Given the description of an element on the screen output the (x, y) to click on. 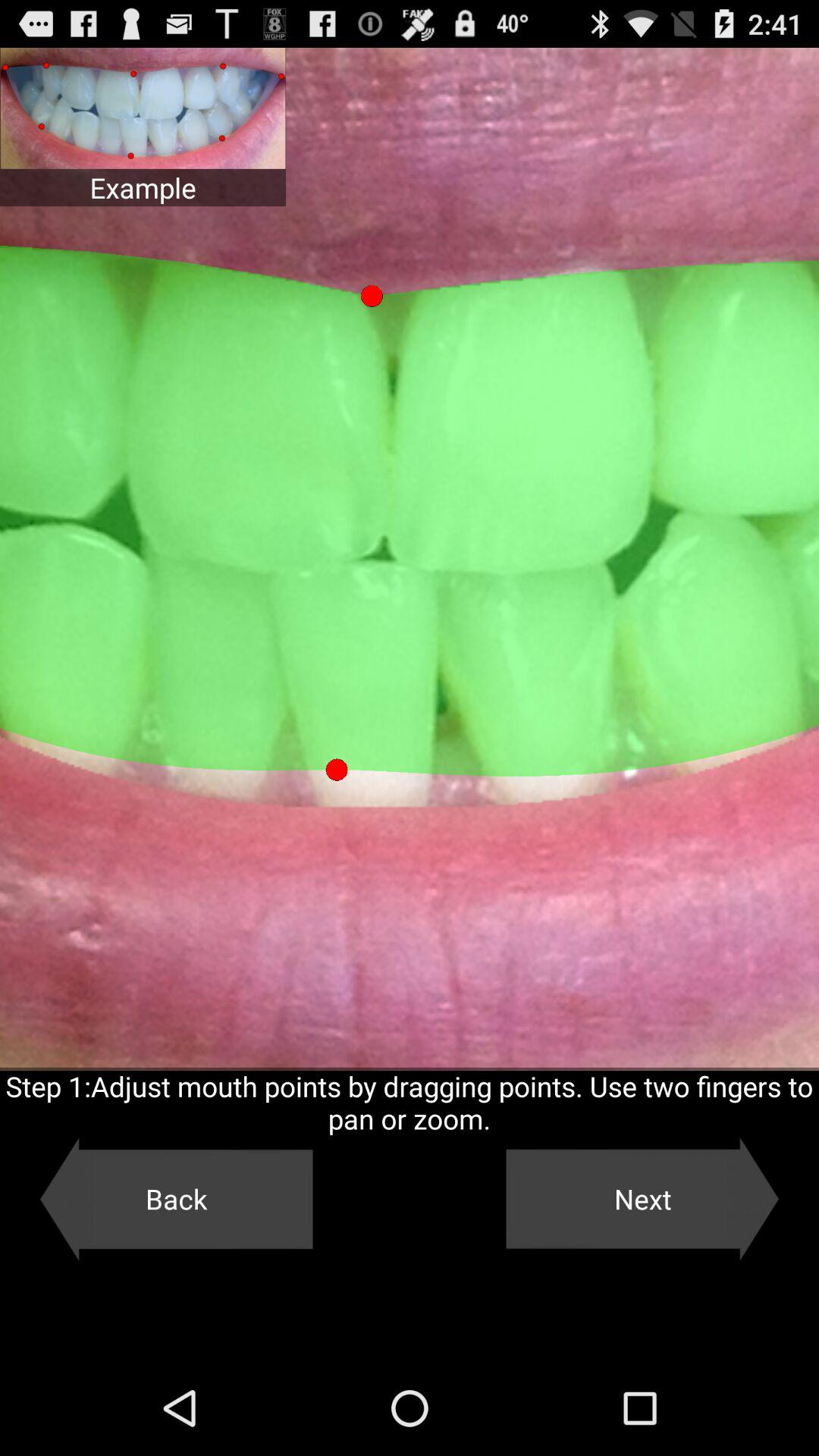
turn off the item below step 1 adjust (175, 1198)
